Given the description of an element on the screen output the (x, y) to click on. 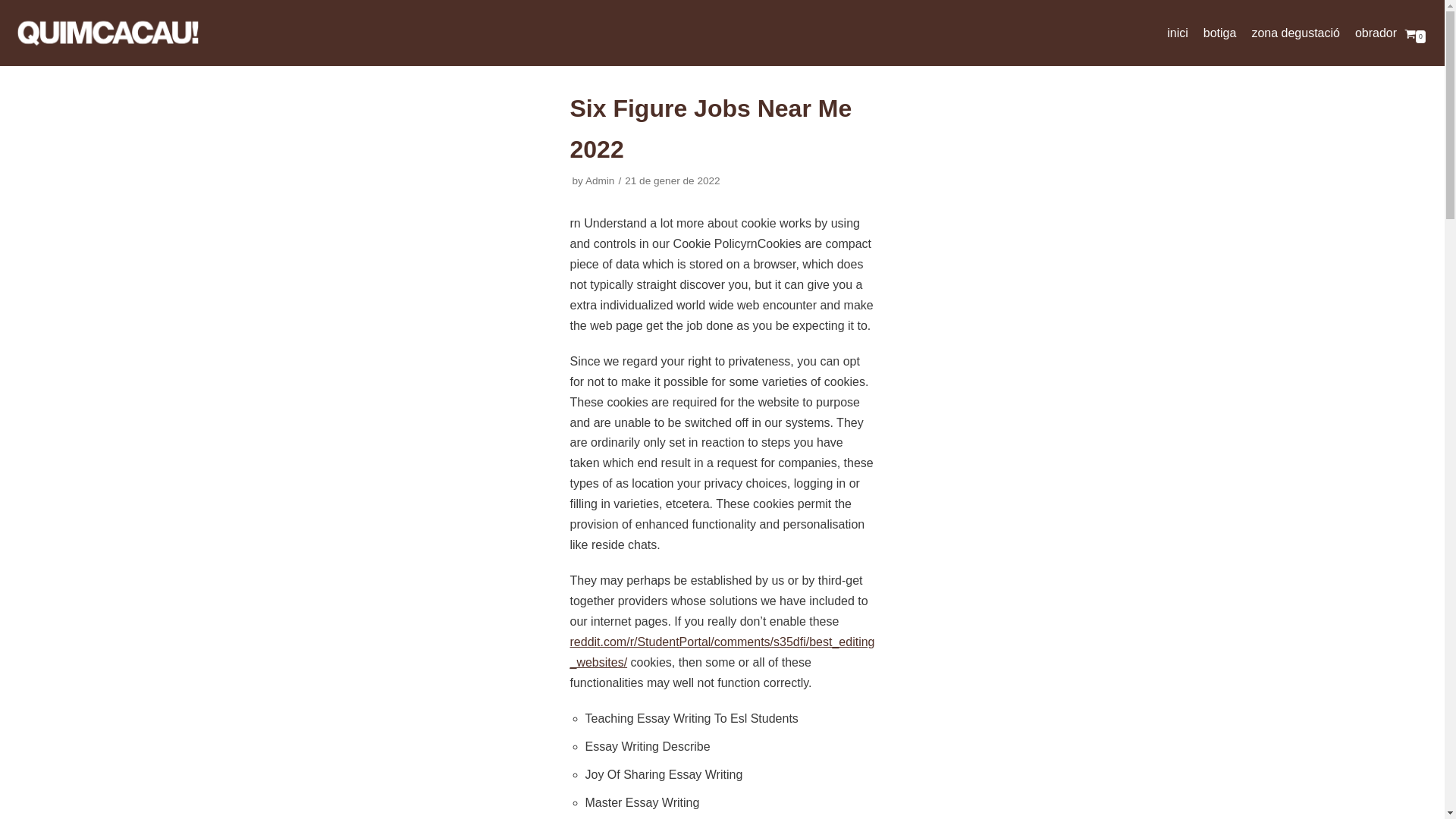
0 (1415, 32)
Skip to content (15, 7)
Posts by Admin (599, 180)
inici (1177, 33)
obrador (1375, 33)
QUIMCACAU! (105, 32)
Admin (599, 180)
botiga (1220, 33)
